Given the description of an element on the screen output the (x, y) to click on. 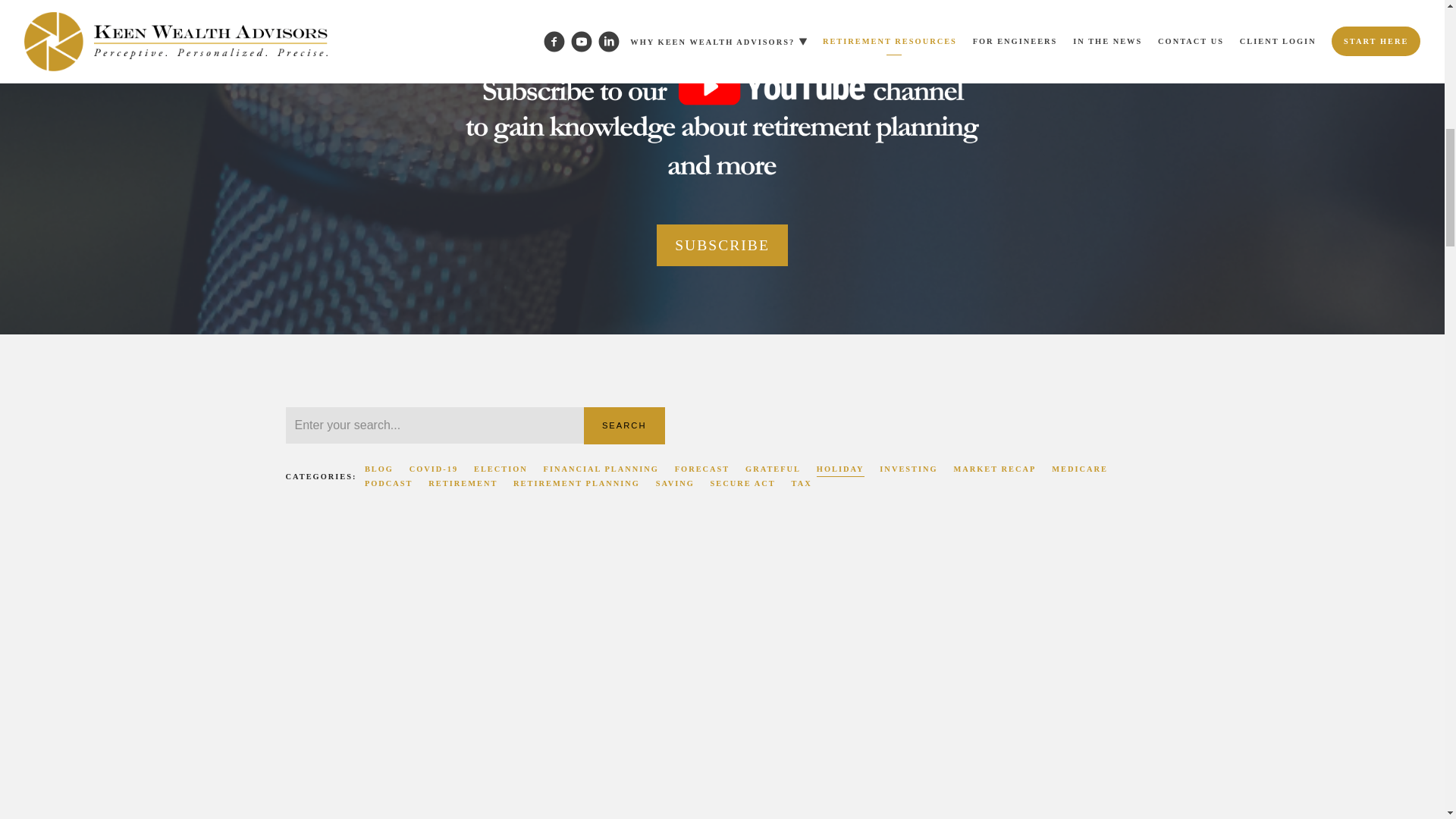
SUBSCRIBE (721, 245)
SEARCH (624, 425)
BLOG (379, 468)
